Given the description of an element on the screen output the (x, y) to click on. 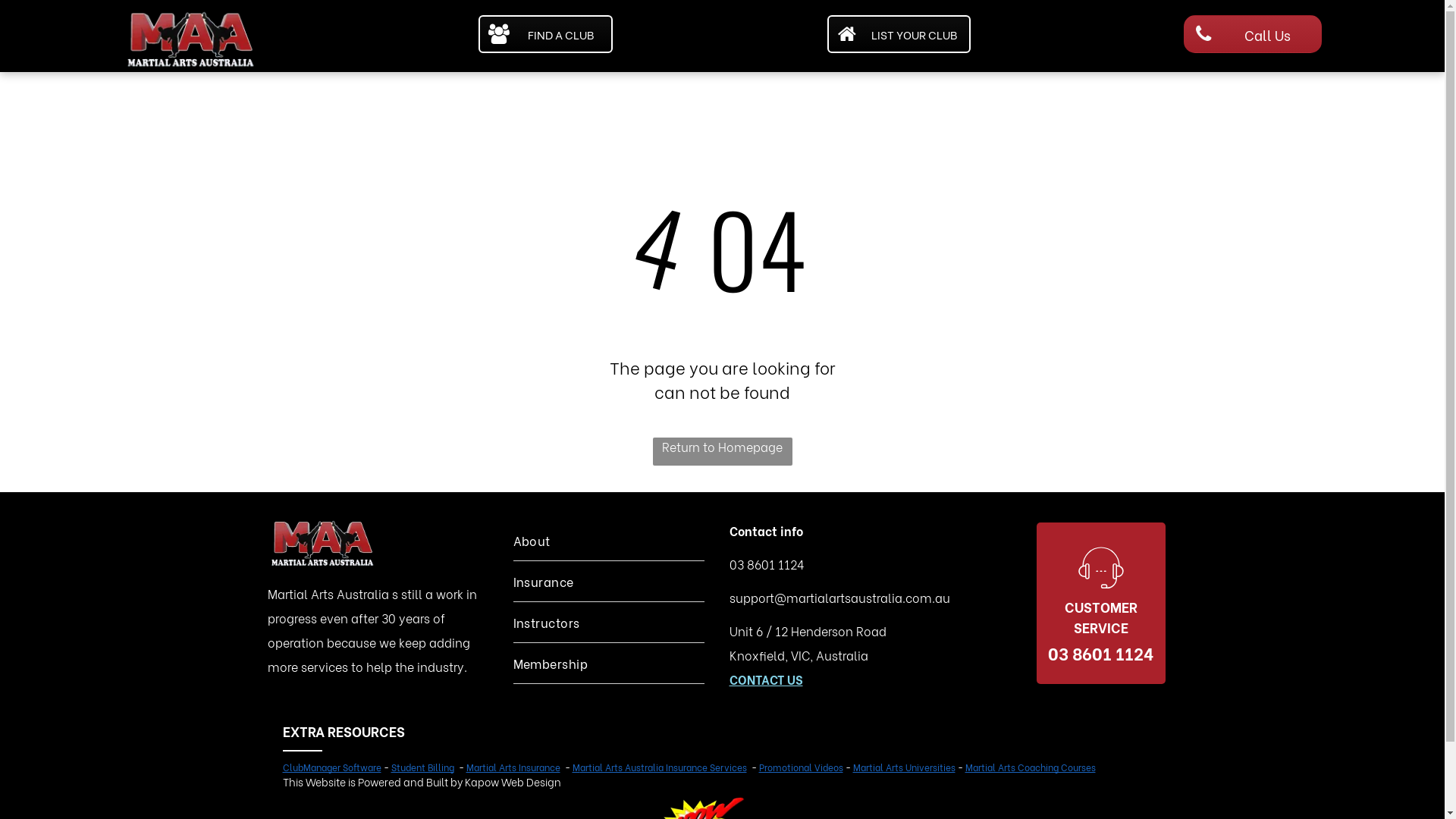
Insurance Element type: text (607, 581)
M Element type: text (575, 766)
Martial Arts Coaching Courses Element type: text (1029, 766)
LIST YOUR CLUB Element type: text (899, 34)
Instructors Element type: text (607, 622)
Membership Element type: text (607, 663)
Call Us Element type: text (1252, 34)
ClubManager Software Element type: text (331, 766)
Martial Arts Insurance Element type: text (512, 766)
About Element type: text (607, 540)
Promotional Videos Element type: text (800, 766)
Return to Homepage Element type: text (721, 451)
CONTACT US Element type: text (766, 678)
Student Billing Element type: text (422, 766)
FIND A CLUB Element type: text (545, 34)
artial Arts Australia Insurance Services Element type: text (662, 766)
Martial Arts Universities Element type: text (903, 766)
